Given the description of an element on the screen output the (x, y) to click on. 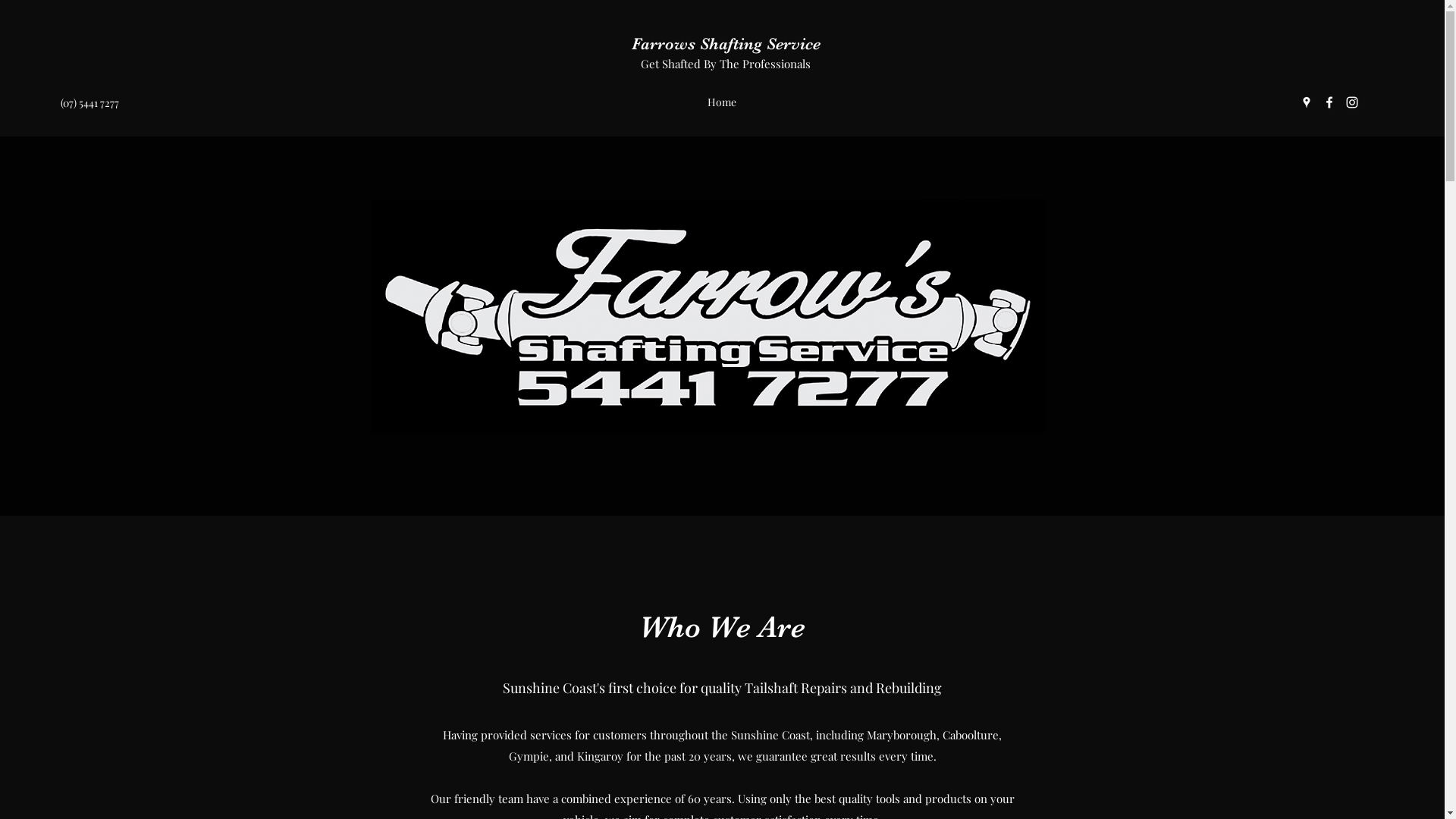
Farrows Shafting Service Element type: text (725, 43)
Home Element type: text (721, 102)
